Given the description of an element on the screen output the (x, y) to click on. 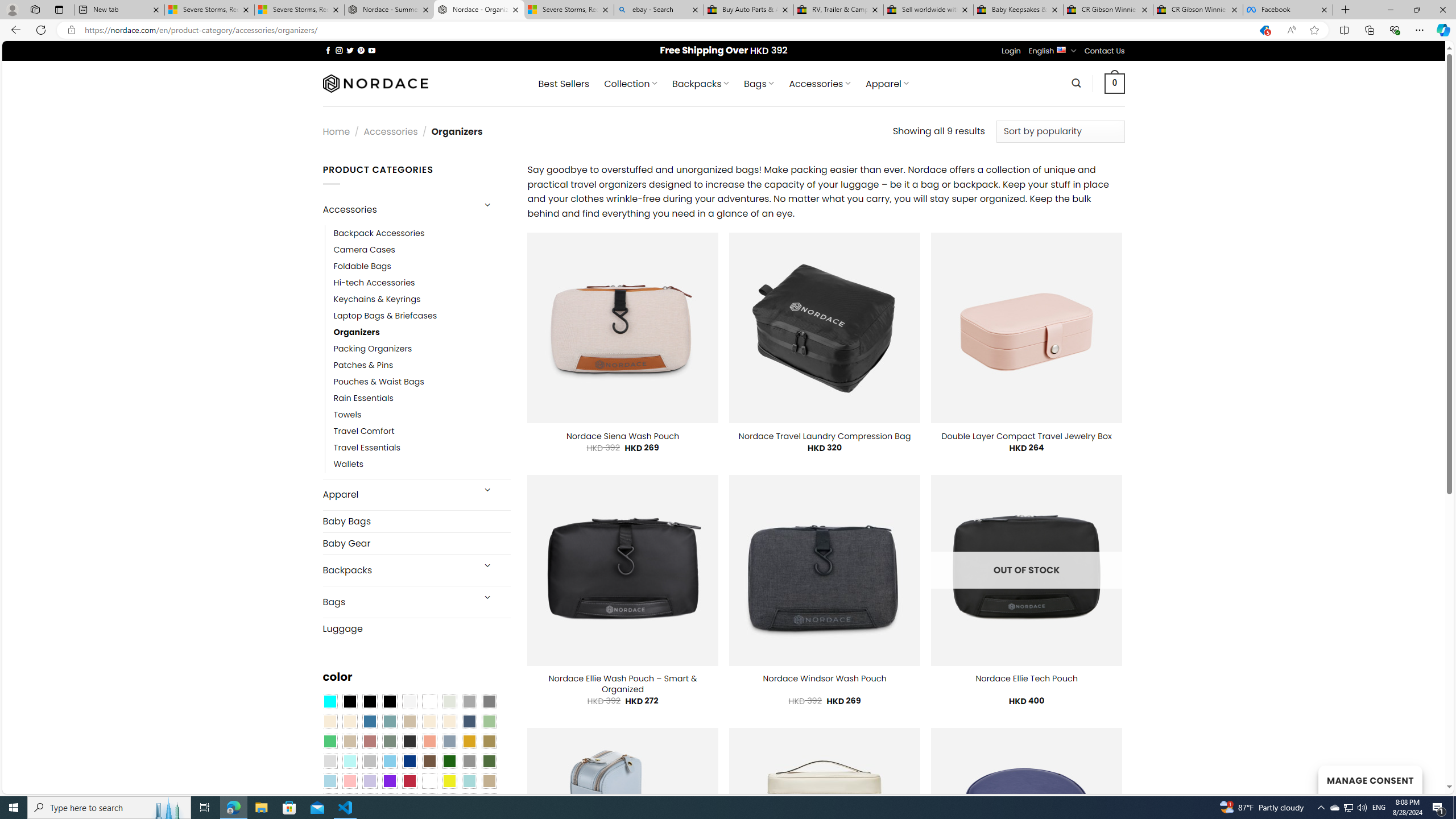
Hi-tech Accessories (373, 282)
English (1061, 49)
Apparel (397, 494)
This site has coupons! Shopping in Microsoft Edge, 5 (1263, 29)
Sage (389, 741)
Collections (1369, 29)
Hi-tech Accessories (422, 282)
Light Blue (329, 780)
Address and search bar (664, 29)
Restore (1416, 9)
New Tab (1346, 9)
Rain Essentials (363, 398)
